Given the description of an element on the screen output the (x, y) to click on. 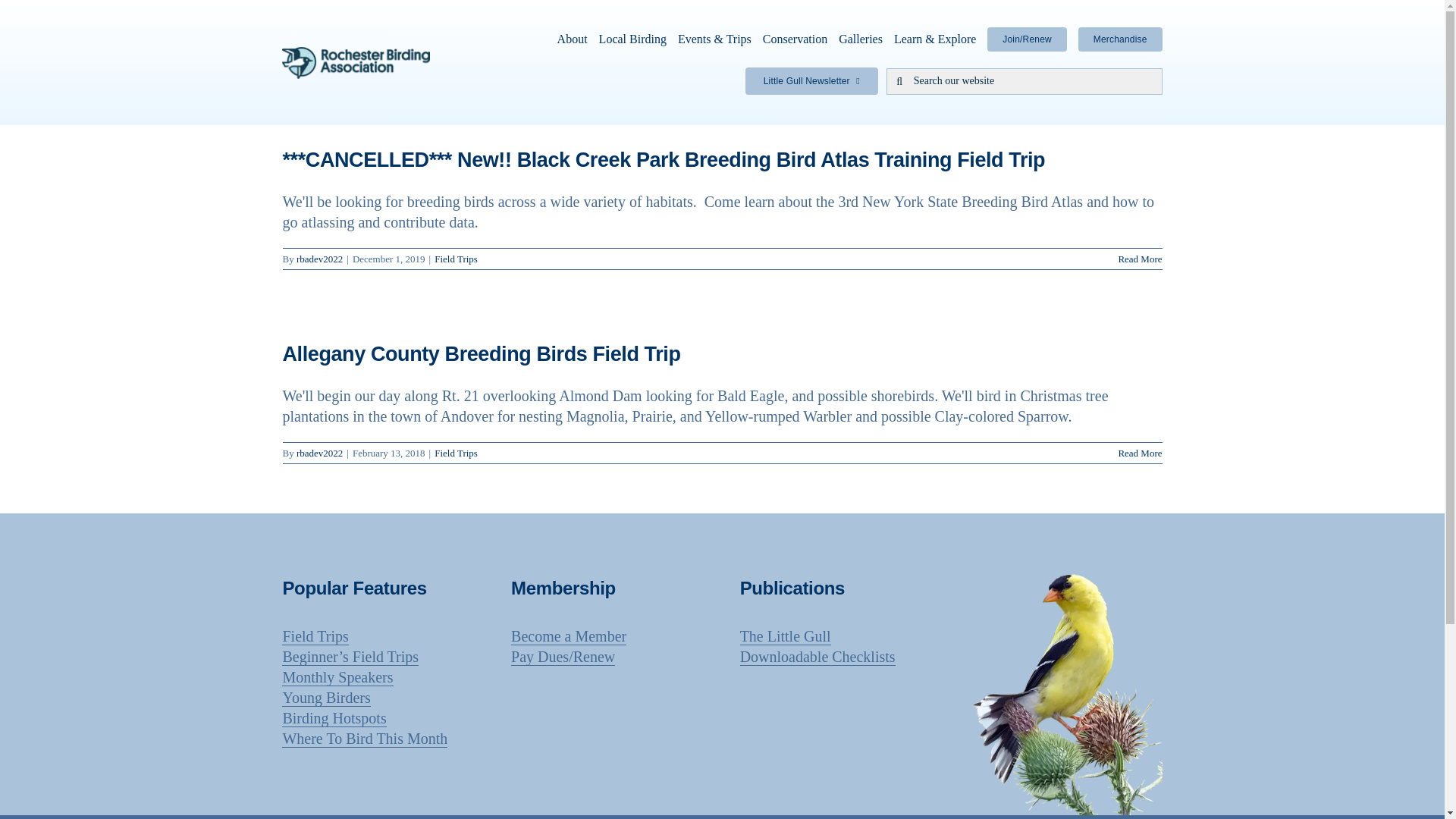
Local Birding (632, 39)
Posts by rbadev2022 (319, 452)
Posts by rbadev2022 (319, 258)
About (572, 39)
